Given the description of an element on the screen output the (x, y) to click on. 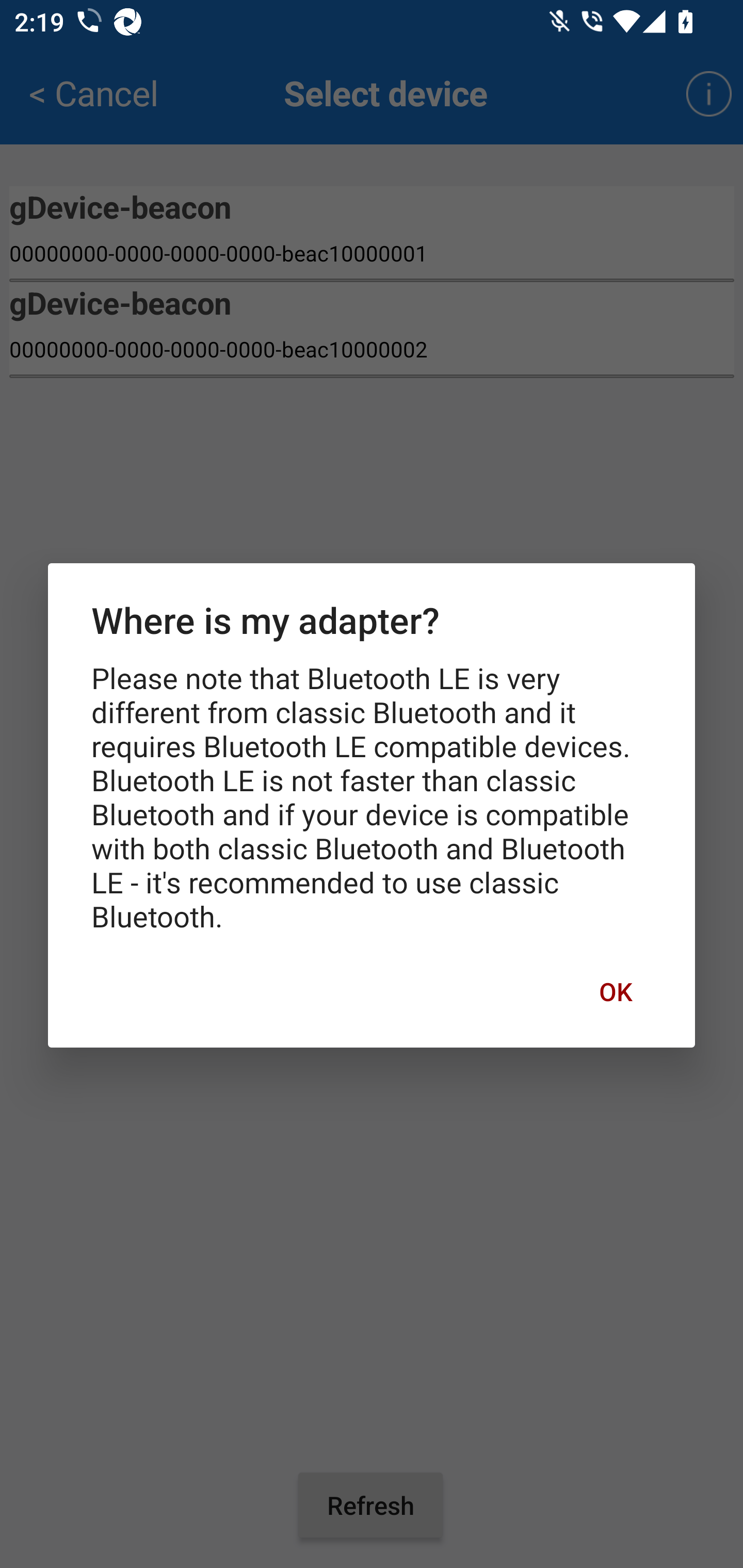
OK (615, 990)
